Given the description of an element on the screen output the (x, y) to click on. 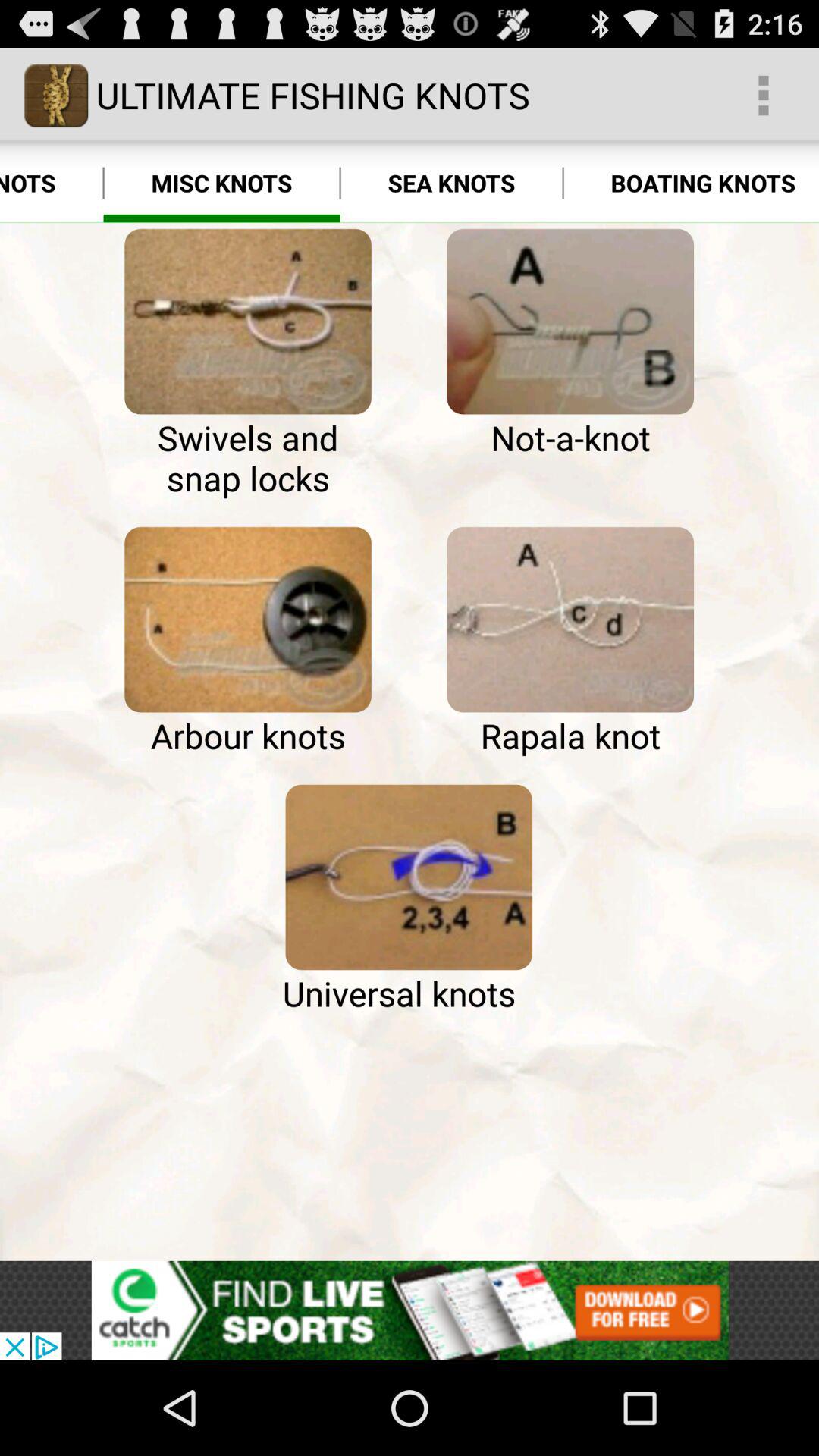
select universal knots tutorial (408, 876)
